Given the description of an element on the screen output the (x, y) to click on. 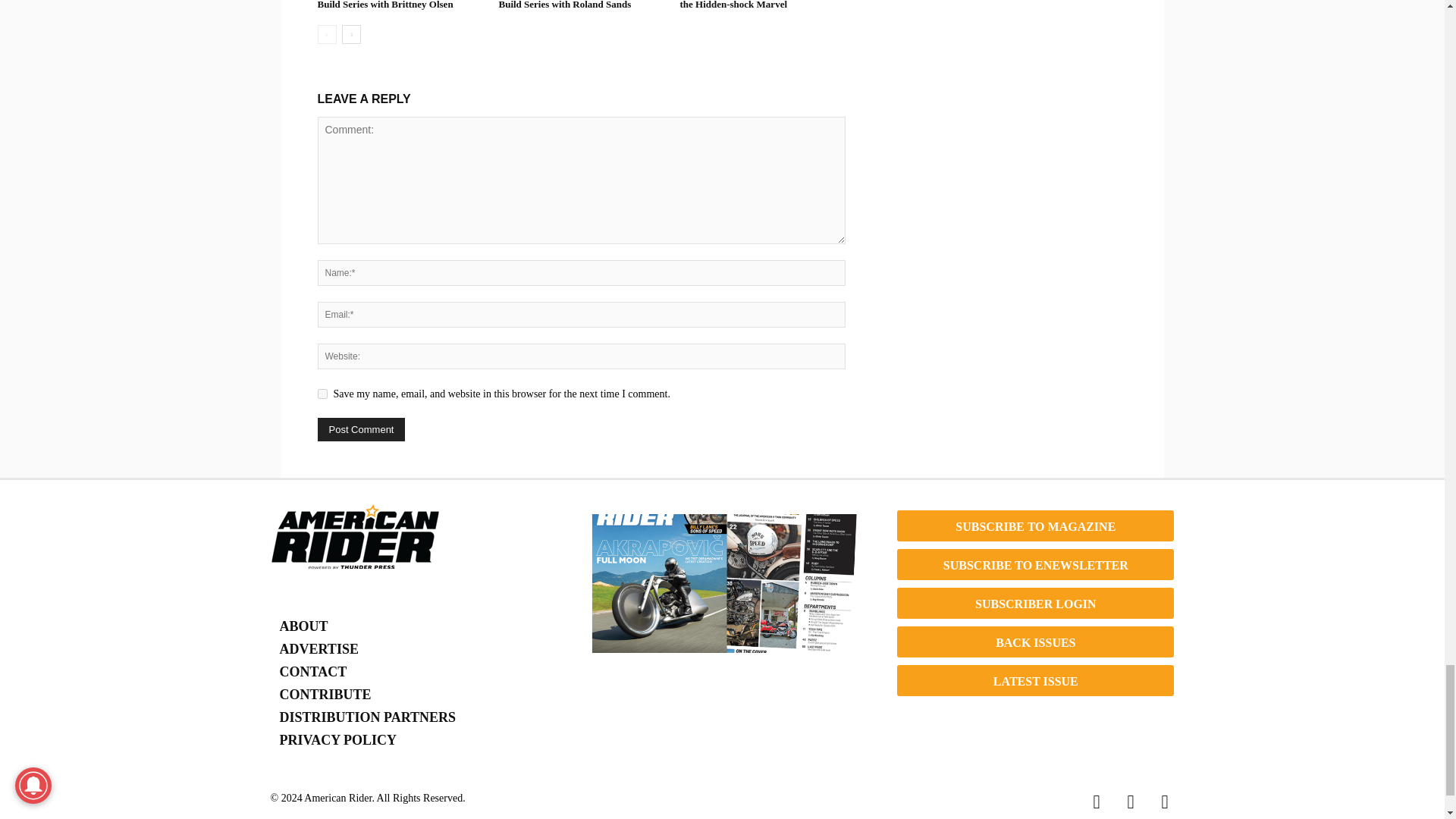
Post Comment (360, 429)
yes (321, 393)
